Given the description of an element on the screen output the (x, y) to click on. 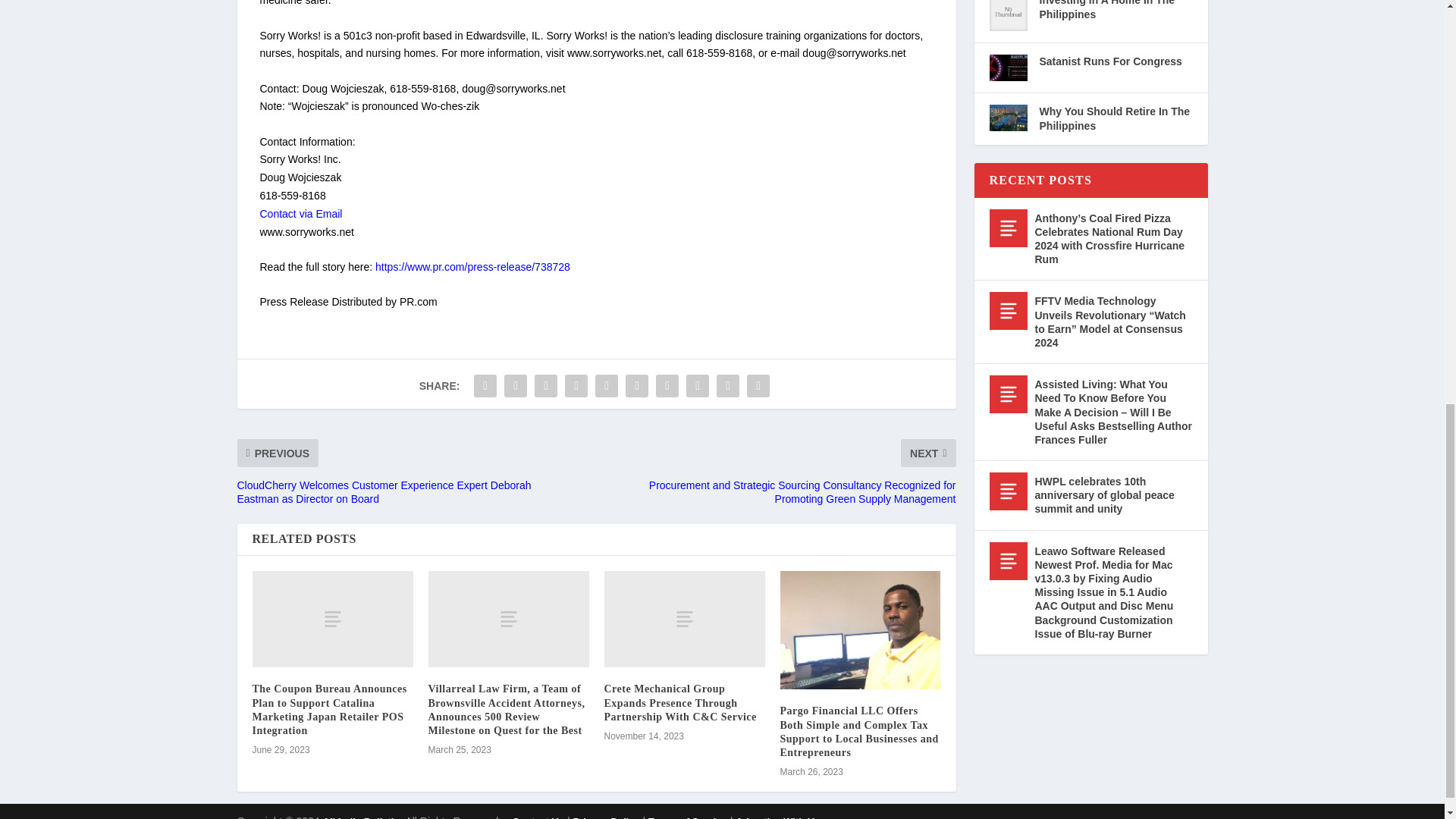
Contact via Email (300, 214)
